Given the description of an element on the screen output the (x, y) to click on. 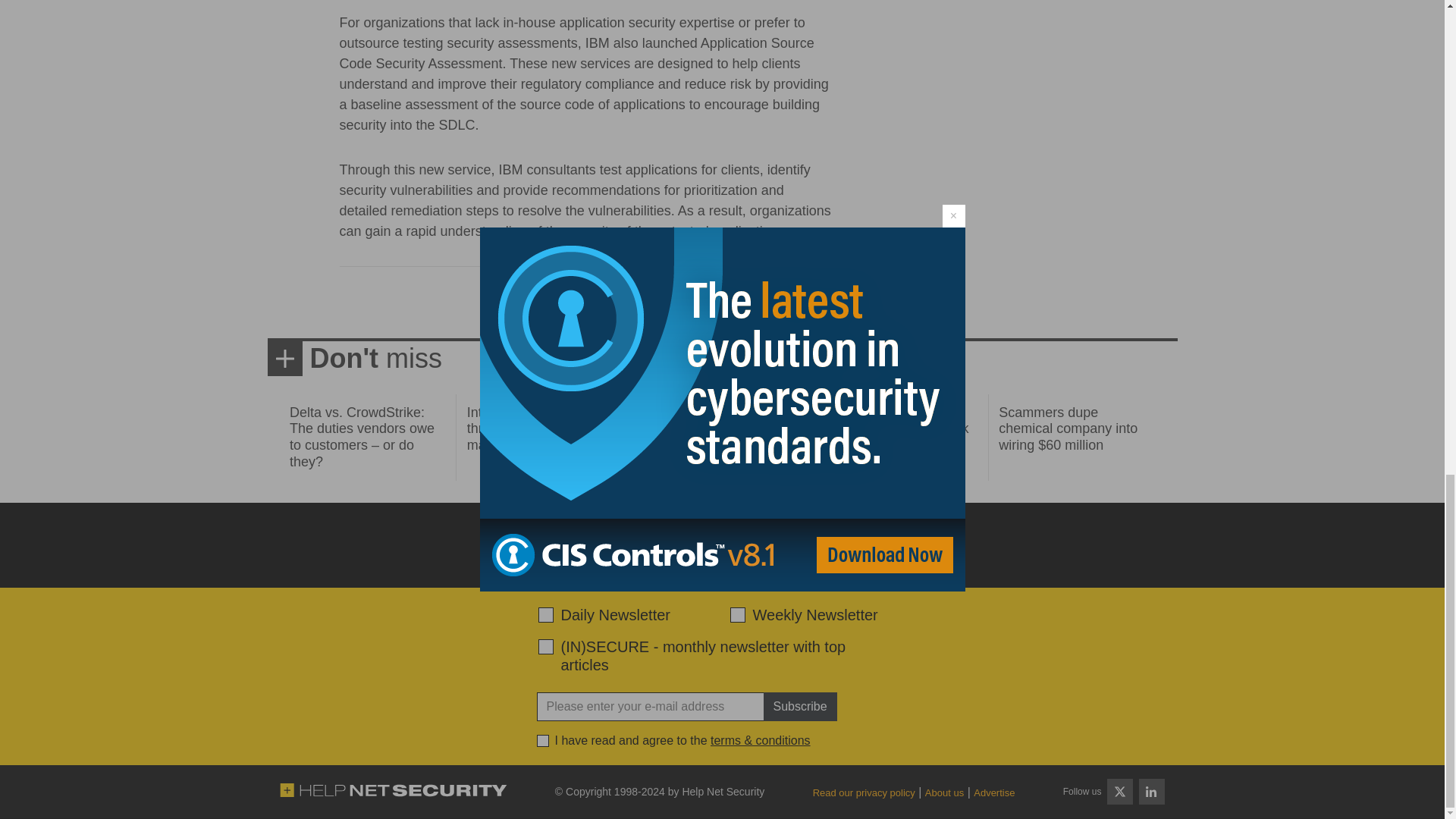
28abe5d9ef (545, 646)
1 (542, 740)
Microsoft fixes 6 zero-days under active attack (894, 420)
IntelOwl: Open-source threat intelligence management (534, 428)
Share IBM launches new security solutions on Facebook (560, 302)
Share IBM launches new security solutions via E-mail (643, 302)
520ac2f639 (545, 614)
Share IBM launches new security solutions on Twitter (588, 302)
d2d471aafa (736, 614)
Share IBM launches new security solutions on LinkedIn (615, 302)
